Given the description of an element on the screen output the (x, y) to click on. 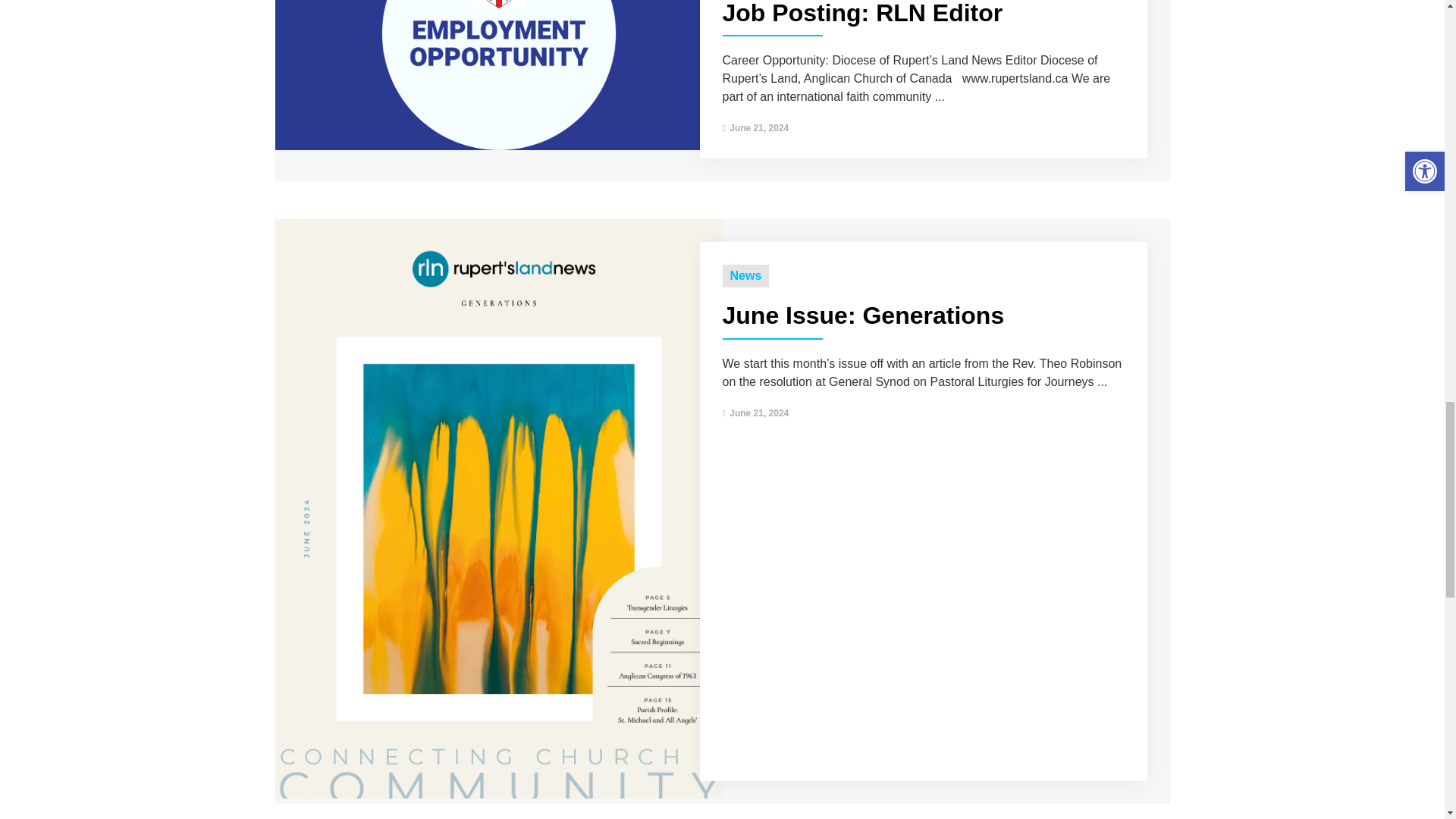
Job Posting: RLN Editor (498, 145)
June Issue: Generations (498, 793)
